Given the description of an element on the screen output the (x, y) to click on. 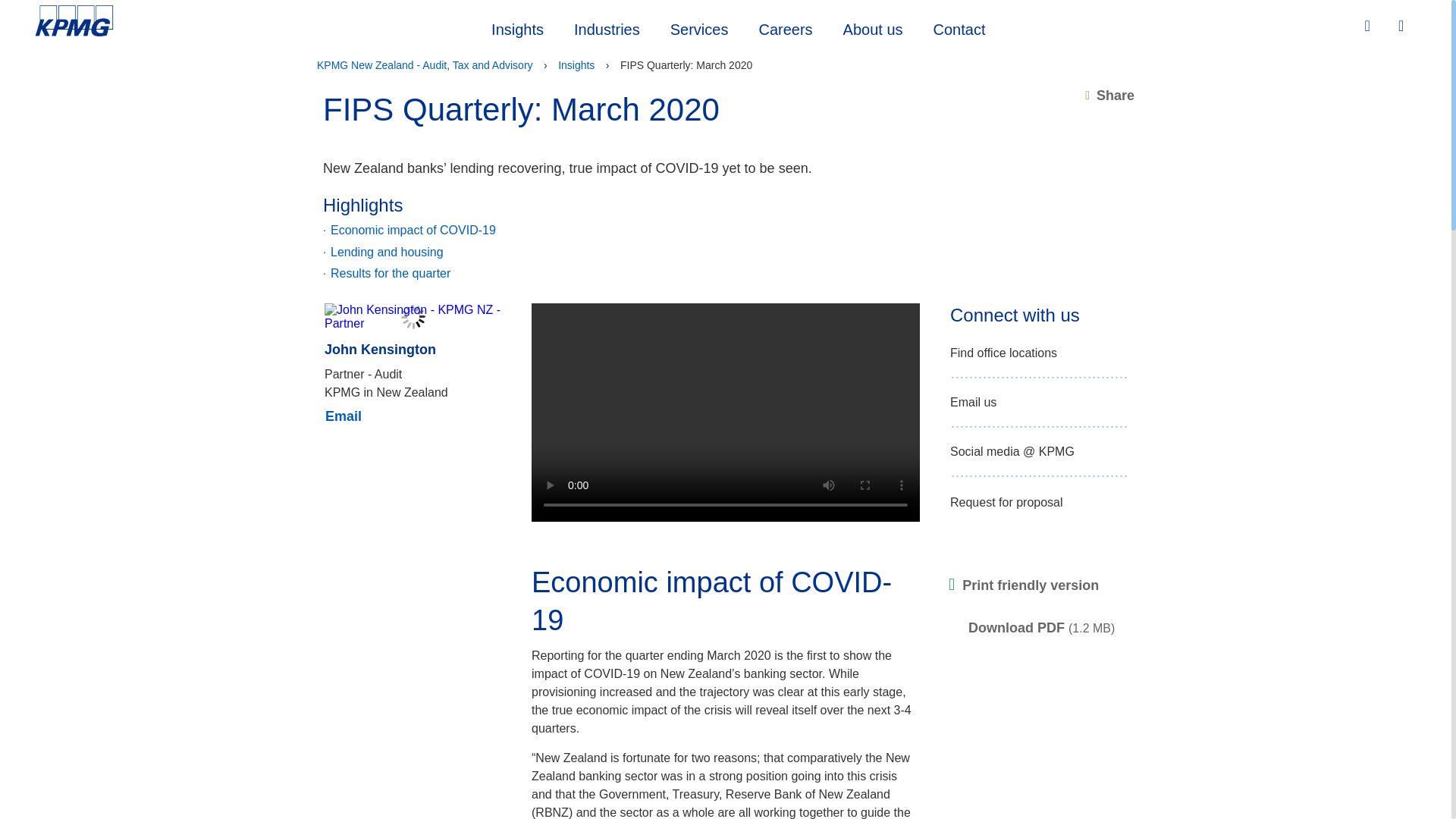
Contact (959, 27)
About us (873, 27)
Insights (575, 64)
Lending and housing (387, 252)
Results for the quarter (389, 273)
Insights (517, 27)
Search (1369, 26)
Request for proposal (1006, 502)
Find office locations (1003, 353)
Share (1109, 96)
KPMG New Zealand - Audit, Tax and Advisory (424, 64)
Print friendly version (1024, 585)
Lending and housing (387, 252)
Site Selector (1402, 26)
Email (342, 416)
